Given the description of an element on the screen output the (x, y) to click on. 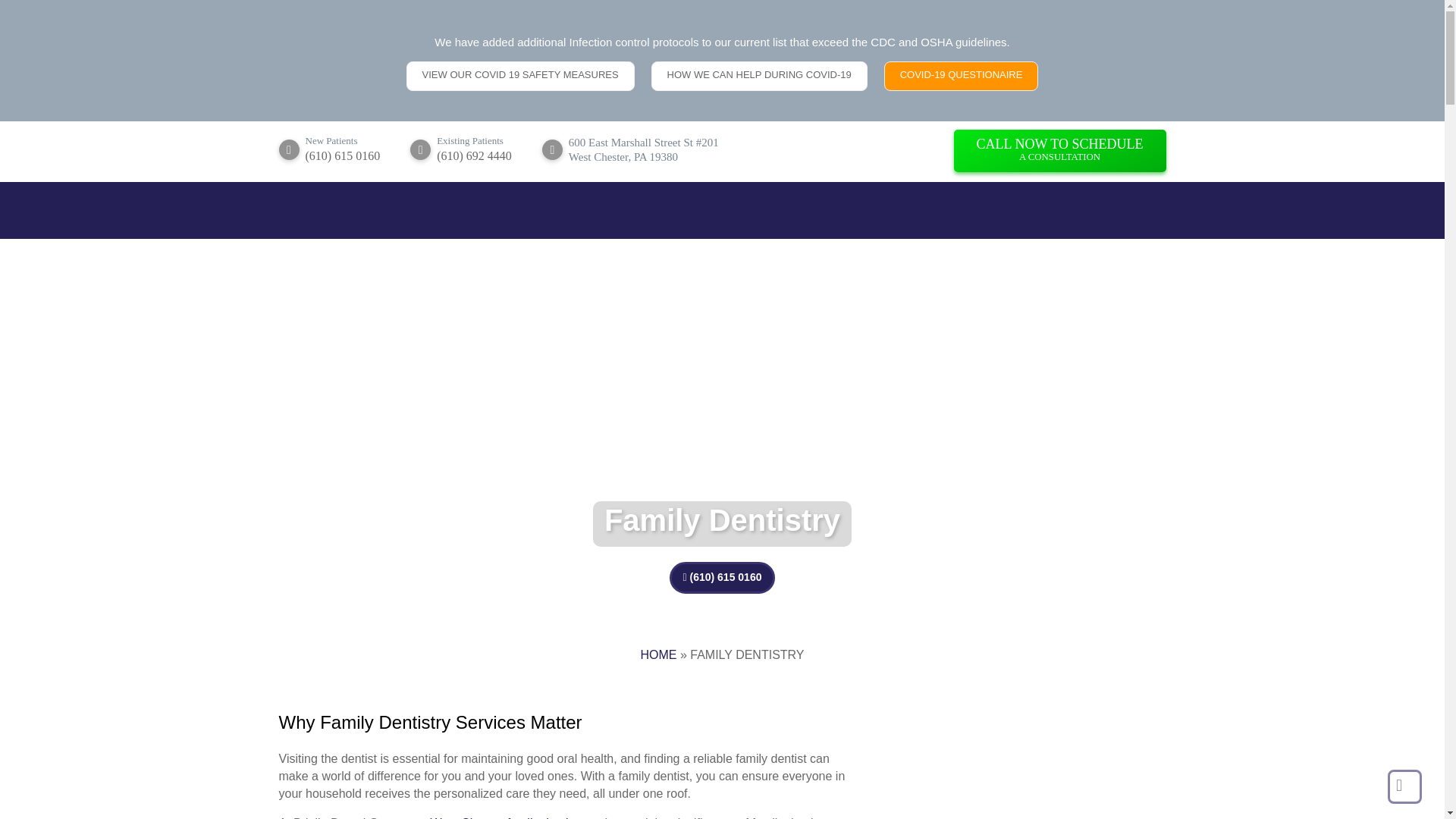
COVID-19 QUESTIONAIRE (1059, 150)
HOW WE CAN HELP DURING COVID-19 (961, 75)
HOME (758, 75)
SERVICES (511, 269)
VIEW OUR COVID 19 SAFETY MEASURES (642, 269)
ABOUT US (520, 75)
